Given the description of an element on the screen output the (x, y) to click on. 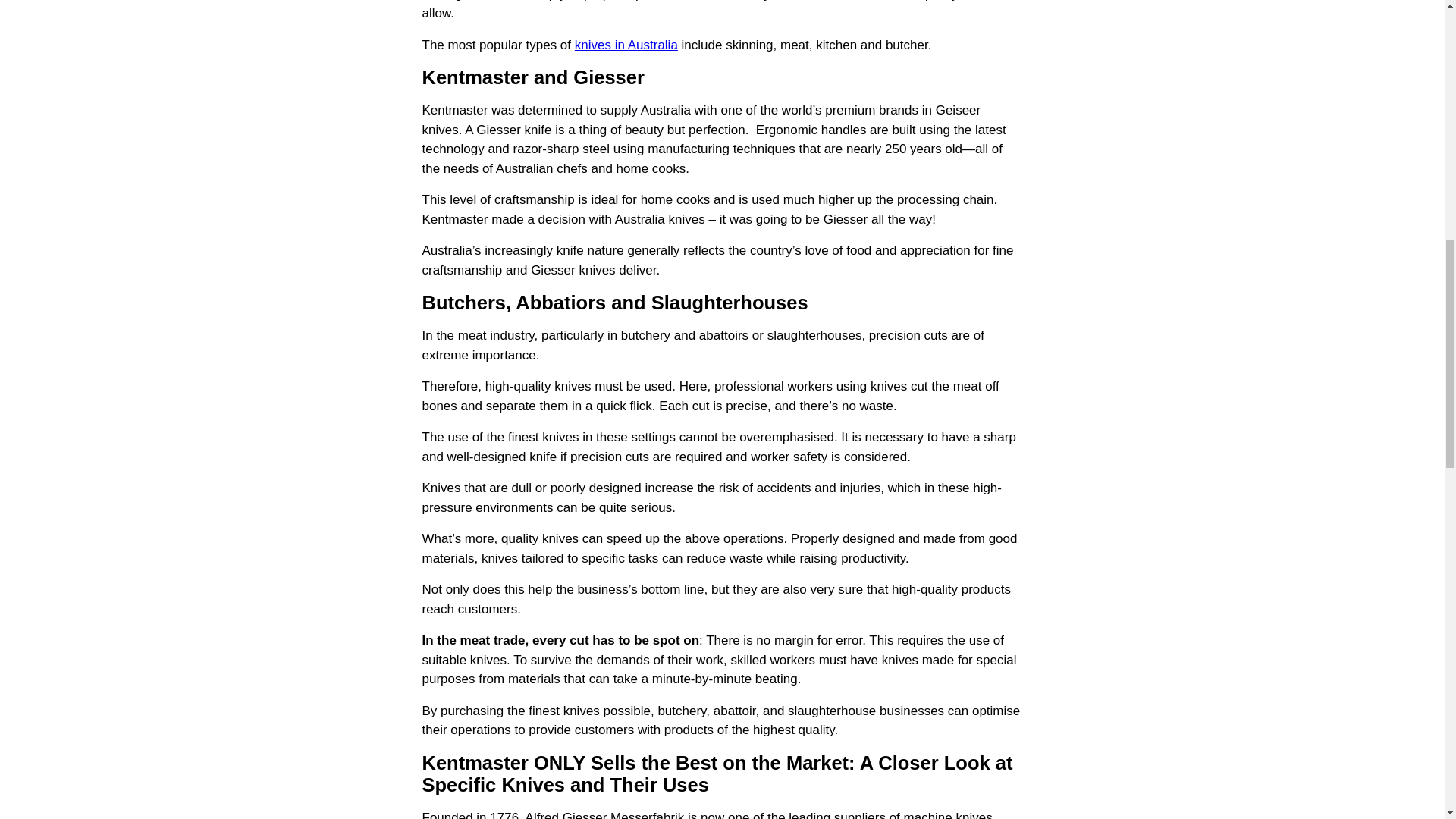
knives in Australia (626, 44)
